Given the description of an element on the screen output the (x, y) to click on. 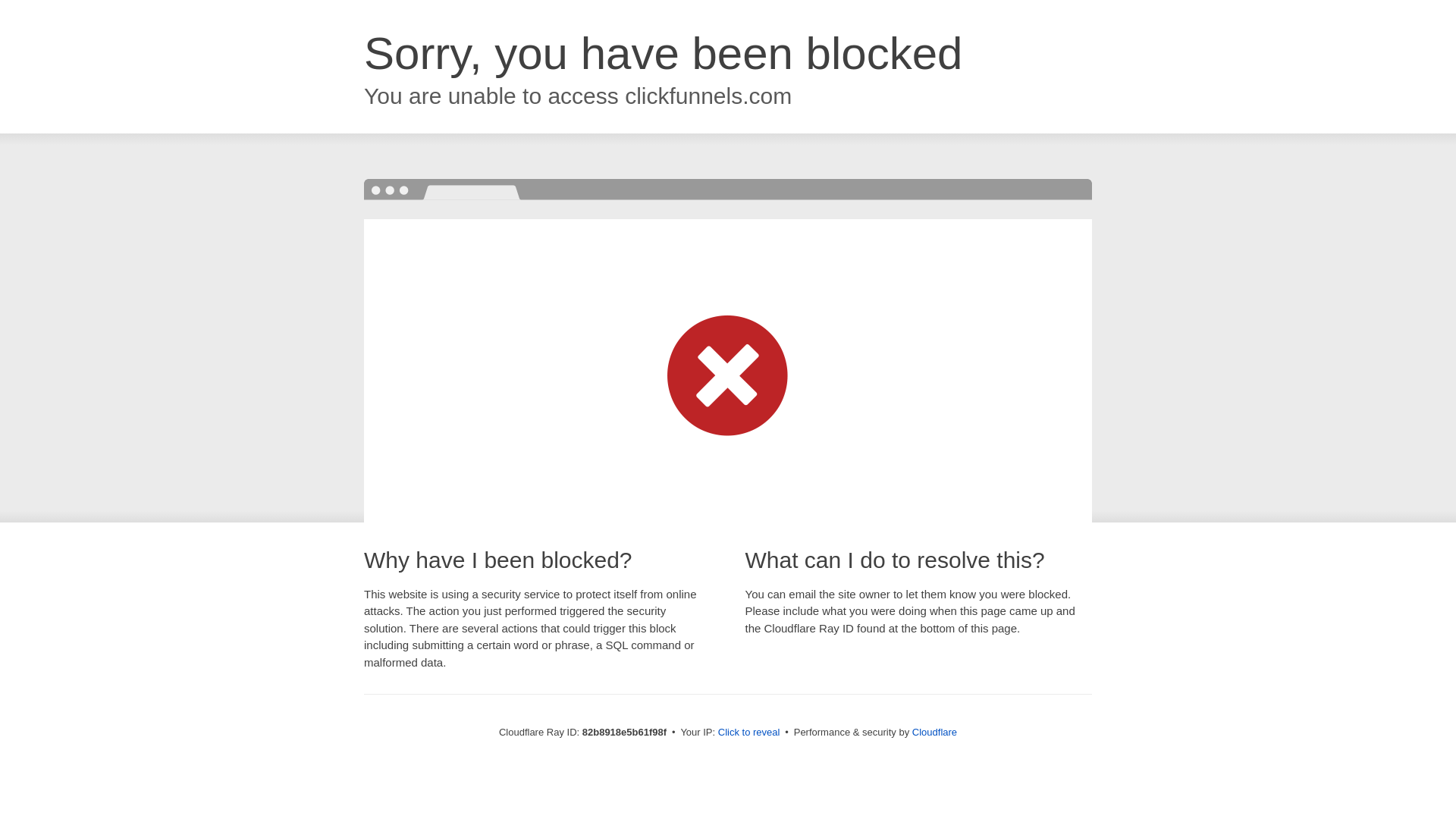
Click to reveal Element type: text (749, 732)
Cloudflare Element type: text (934, 731)
